Given the description of an element on the screen output the (x, y) to click on. 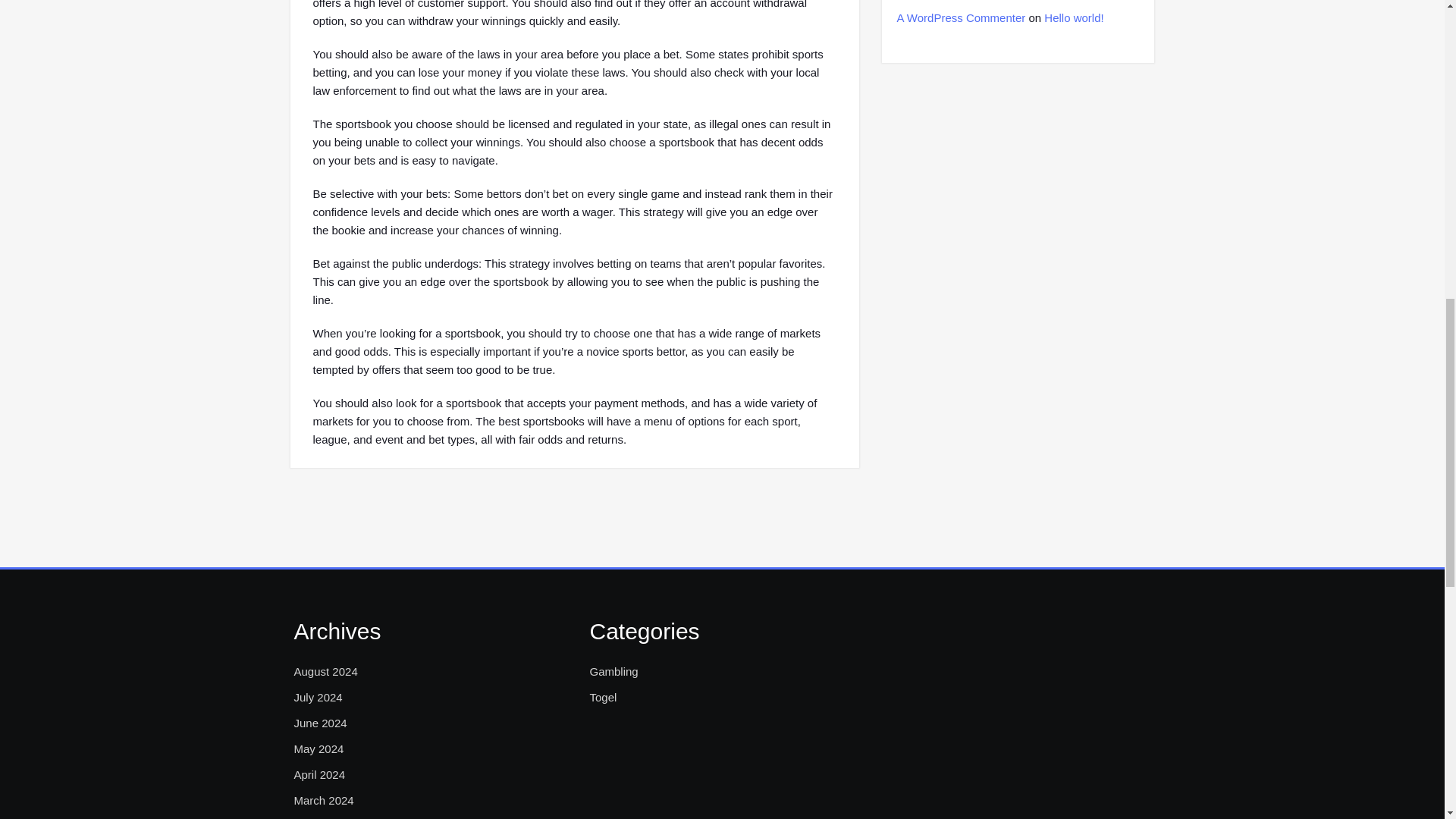
June 2024 (320, 723)
August 2024 (326, 671)
April 2024 (320, 774)
July 2024 (318, 697)
February 2024 (331, 818)
March 2024 (323, 800)
Hello world! (1073, 17)
May 2024 (318, 749)
A WordPress Commenter (960, 17)
